Given the description of an element on the screen output the (x, y) to click on. 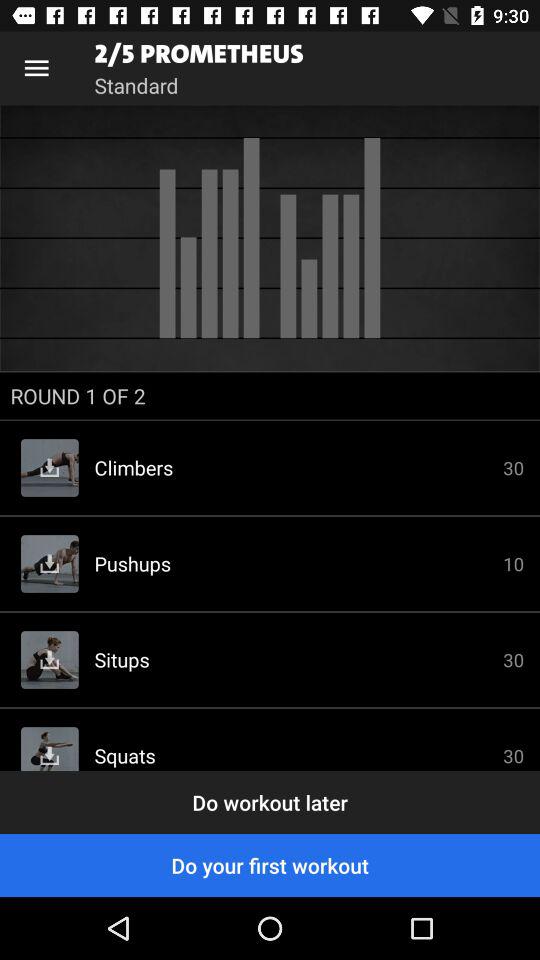
turn on the item to the left of the 2/5 prometheus item (36, 68)
